Given the description of an element on the screen output the (x, y) to click on. 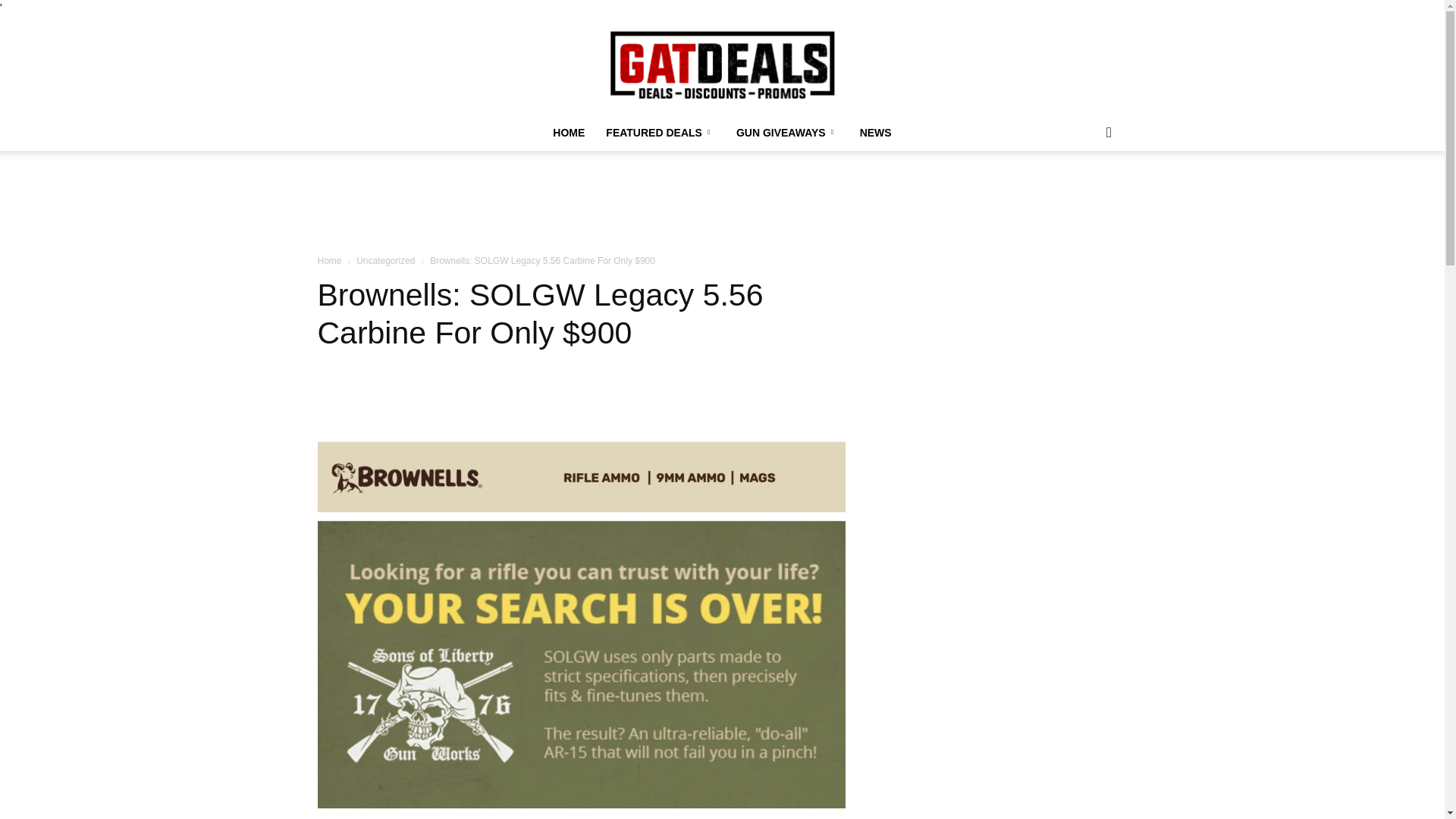
View all posts in Uncategorized (385, 260)
3rd party ad content (722, 202)
NEWS (875, 132)
Uncategorized (385, 260)
HOME (568, 132)
Search (1085, 192)
Home (328, 260)
GUN GIVEAWAYS (786, 132)
FEATURED DEALS (660, 132)
